Given the description of an element on the screen output the (x, y) to click on. 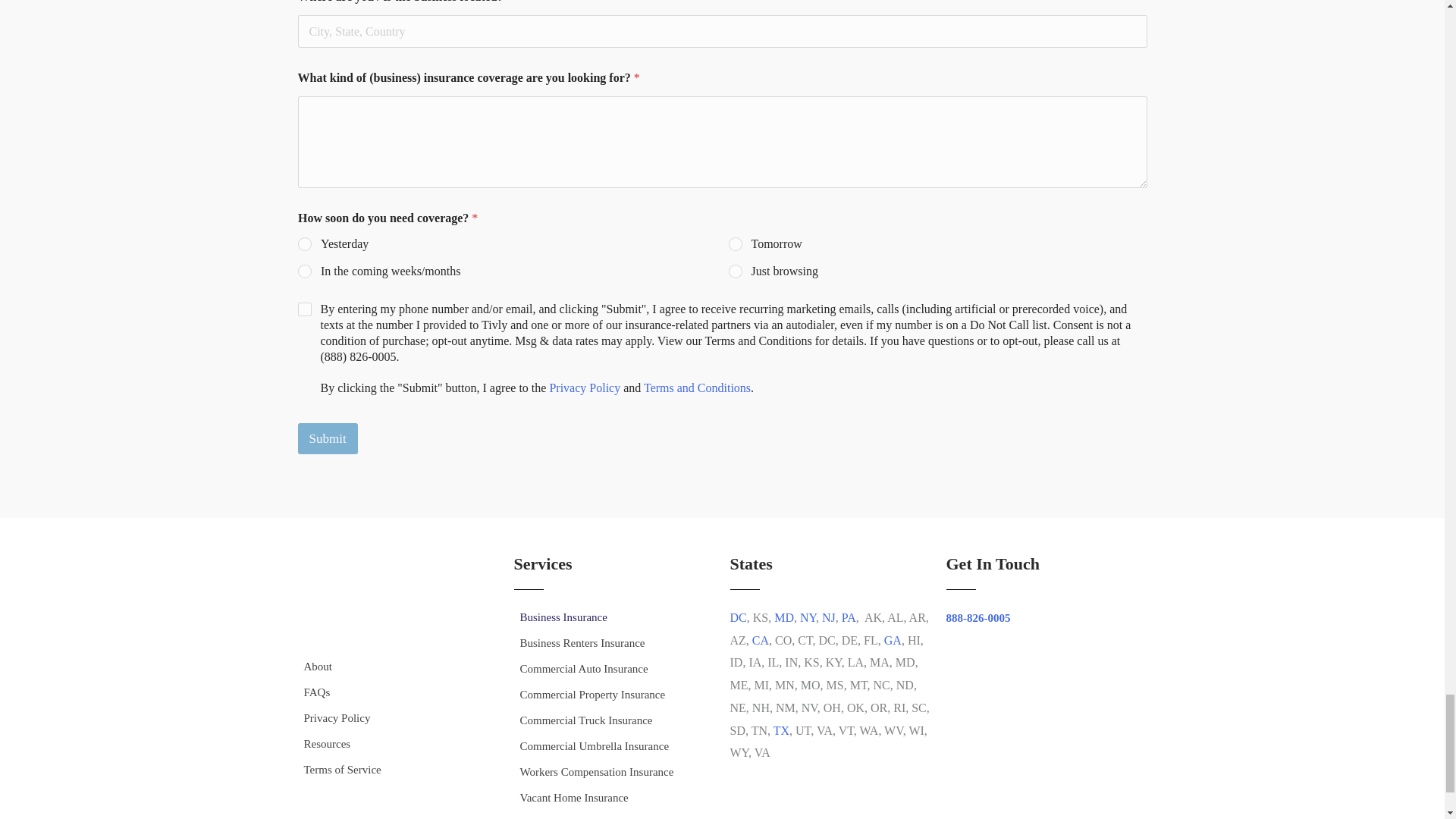
Just browsing (735, 272)
Yesterday (304, 244)
Tomorrow (735, 244)
